Given the description of an element on the screen output the (x, y) to click on. 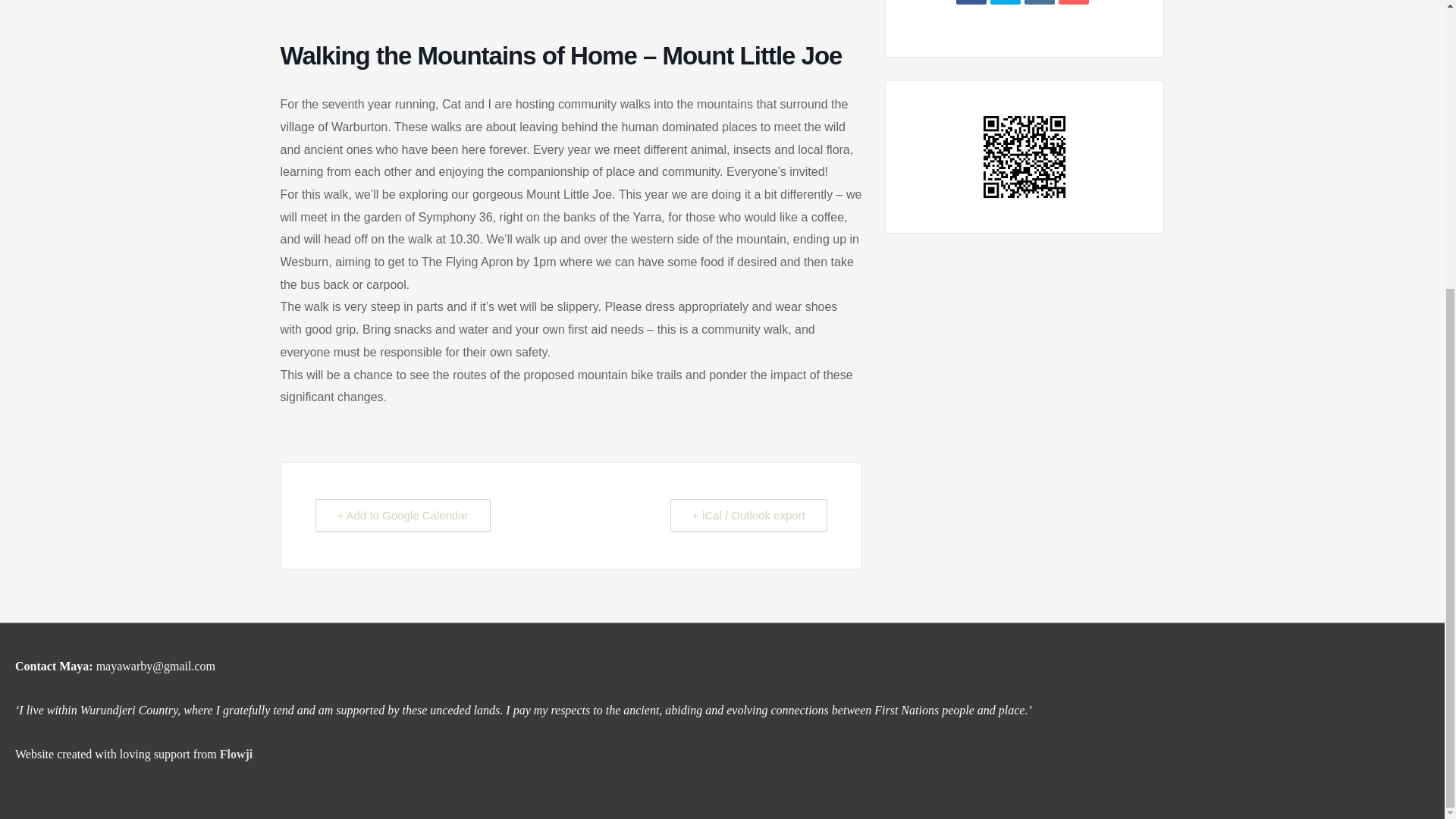
Share on Facebook (971, 2)
Tweet (1005, 2)
Email (1073, 2)
Flowji (236, 753)
Linkedin (1039, 2)
